Given the description of an element on the screen output the (x, y) to click on. 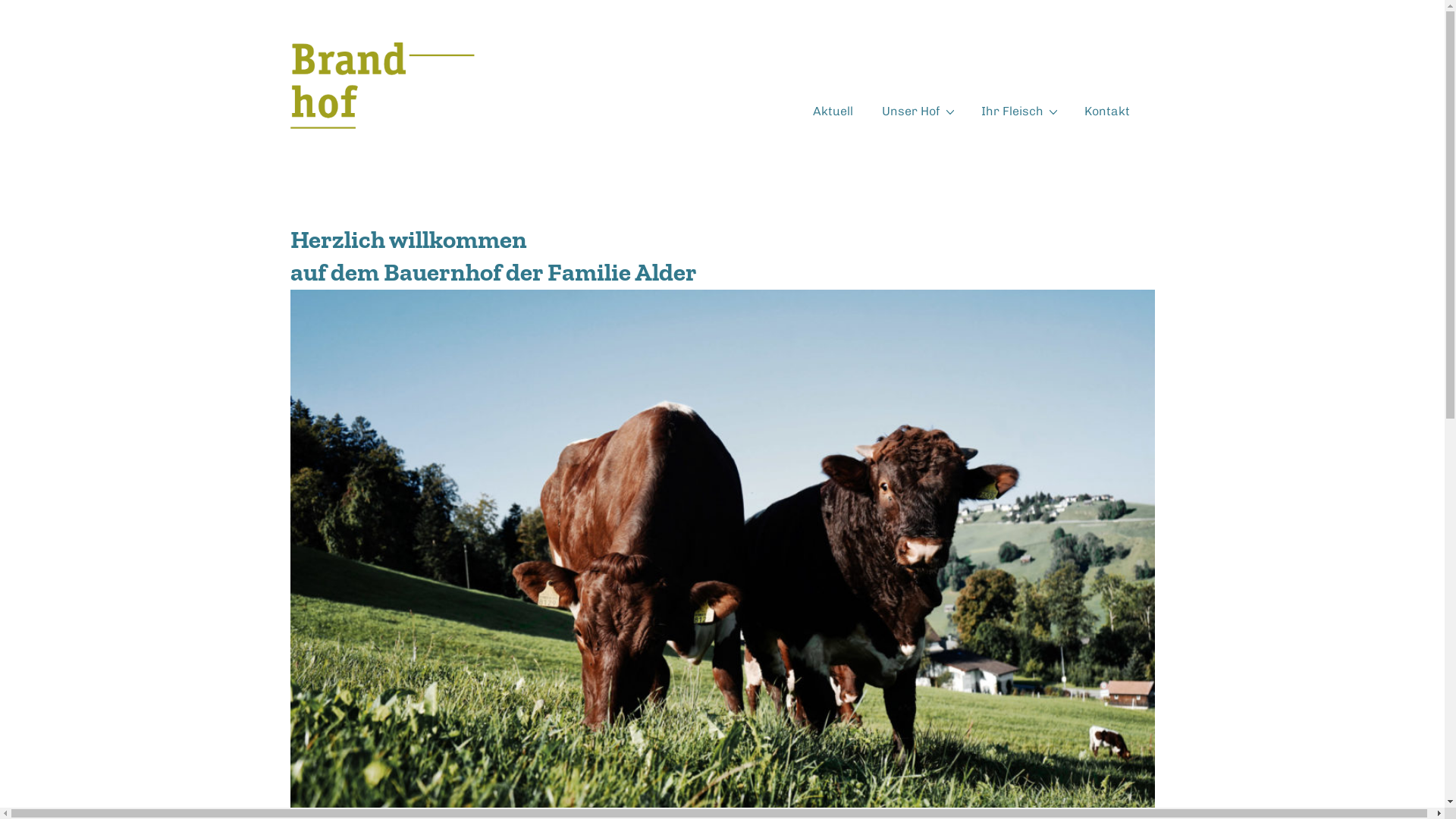
Unser Hof Element type: text (916, 111)
Kontakt Element type: text (1106, 111)
Ihr Fleisch Element type: text (1018, 111)
Aktuell Element type: text (832, 111)
